Given the description of an element on the screen output the (x, y) to click on. 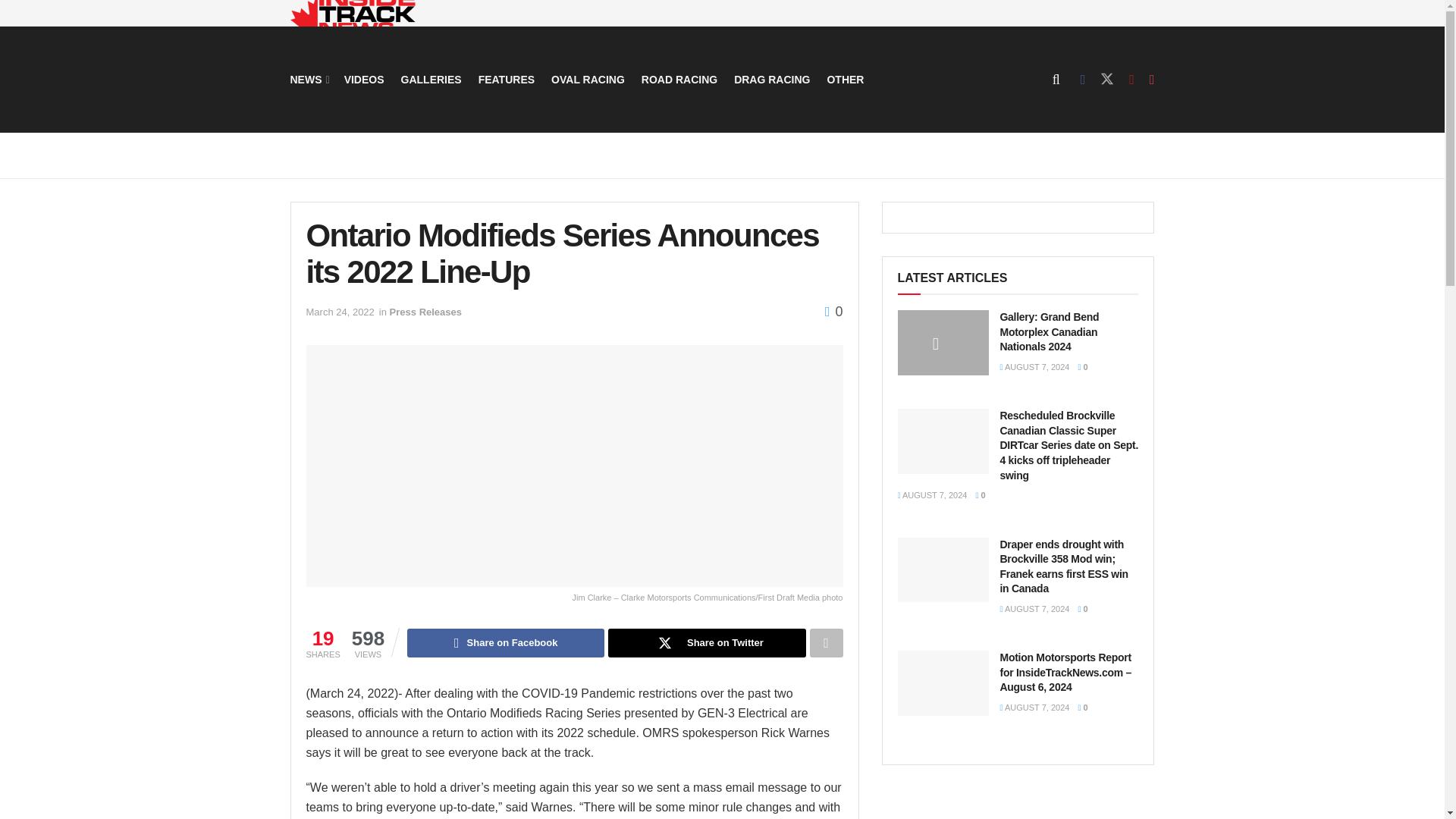
GALLERIES (431, 79)
VIDEOS (363, 79)
NEWS (307, 79)
DRAG RACING (771, 79)
FEATURES (506, 79)
OVAL RACING (587, 79)
OTHER (845, 79)
ROAD RACING (679, 79)
